Given the description of an element on the screen output the (x, y) to click on. 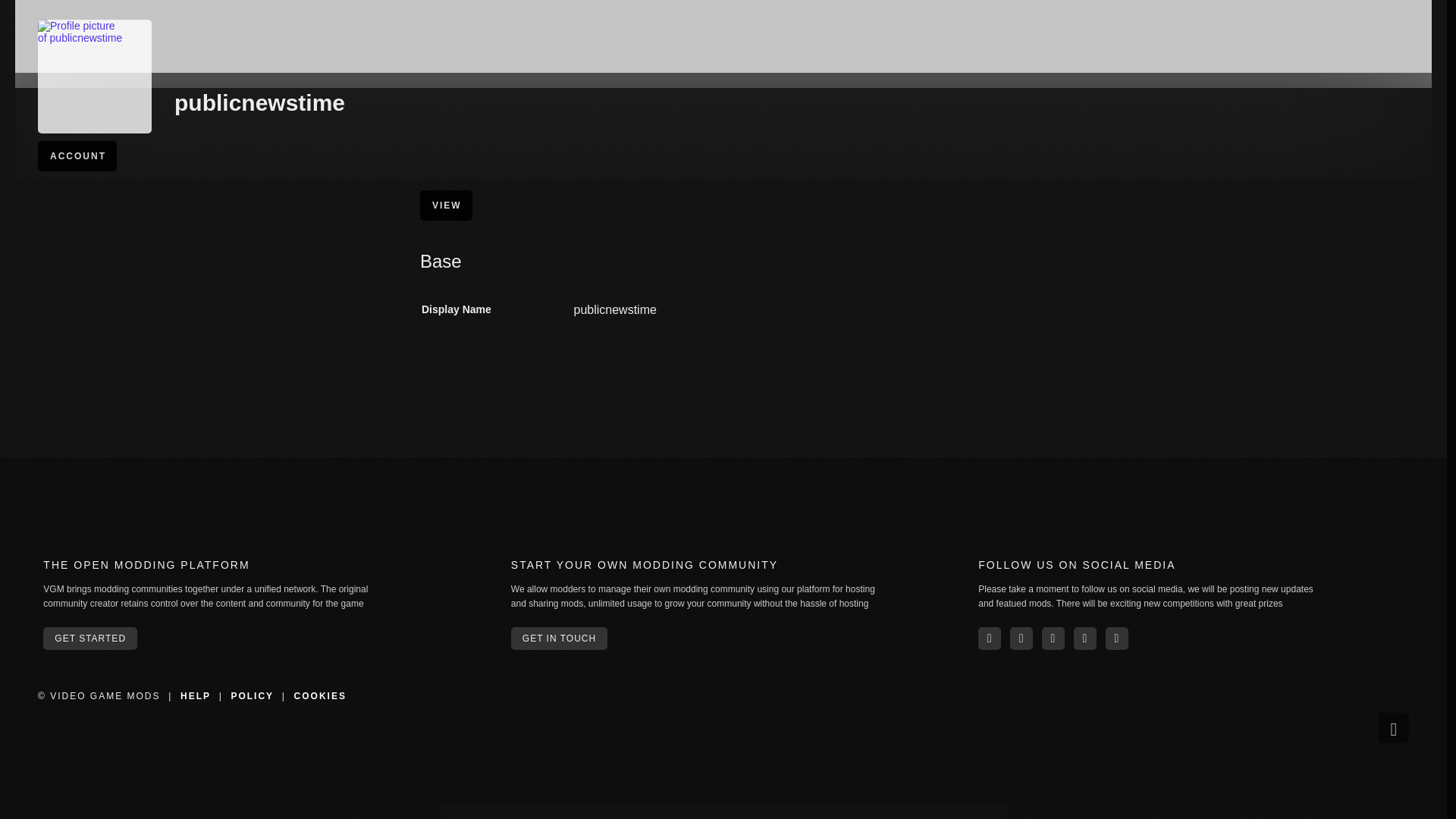
Log In (1337, 73)
